Given the description of an element on the screen output the (x, y) to click on. 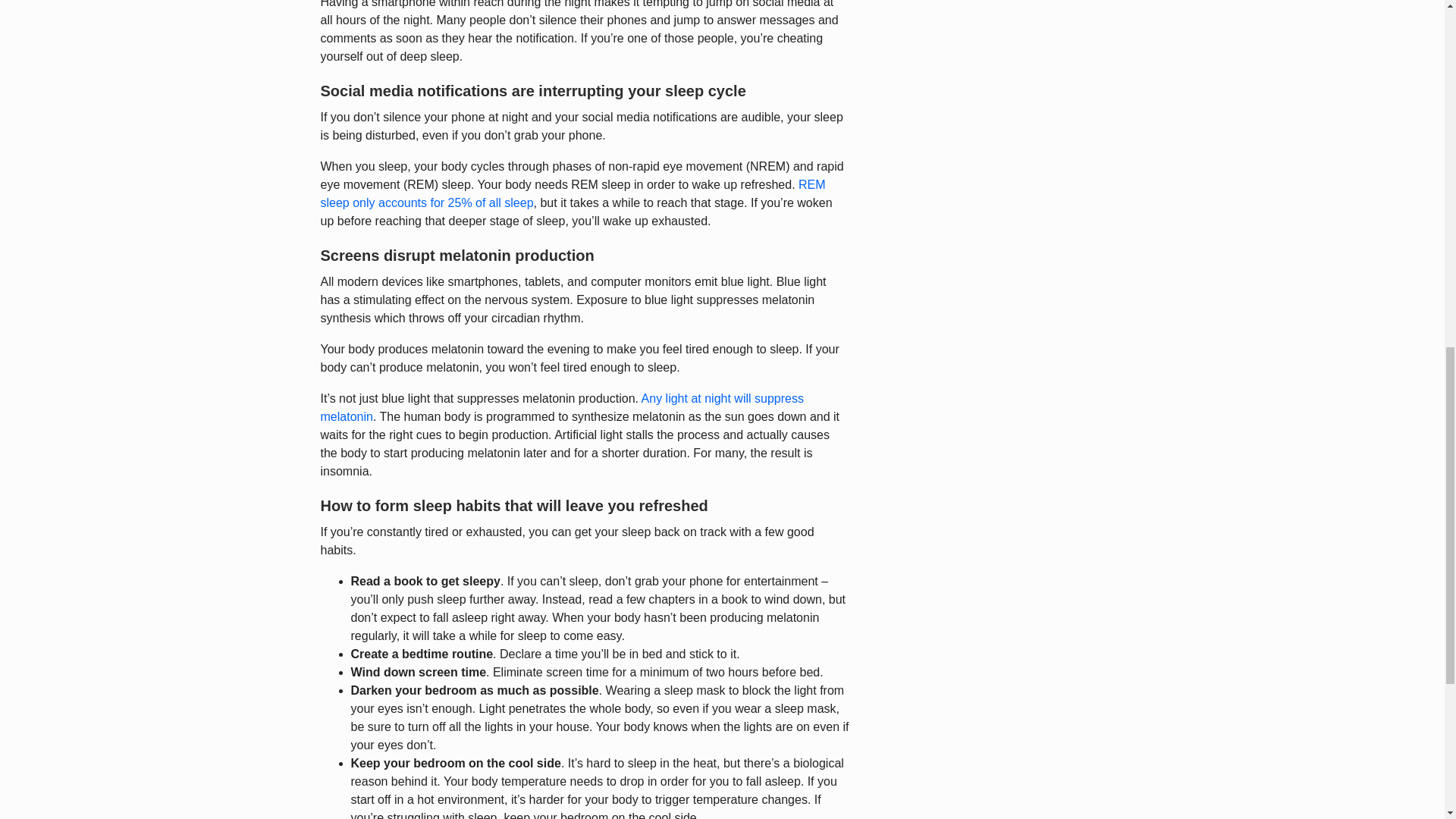
Any light at night will suppress melatonin (561, 407)
